Given the description of an element on the screen output the (x, y) to click on. 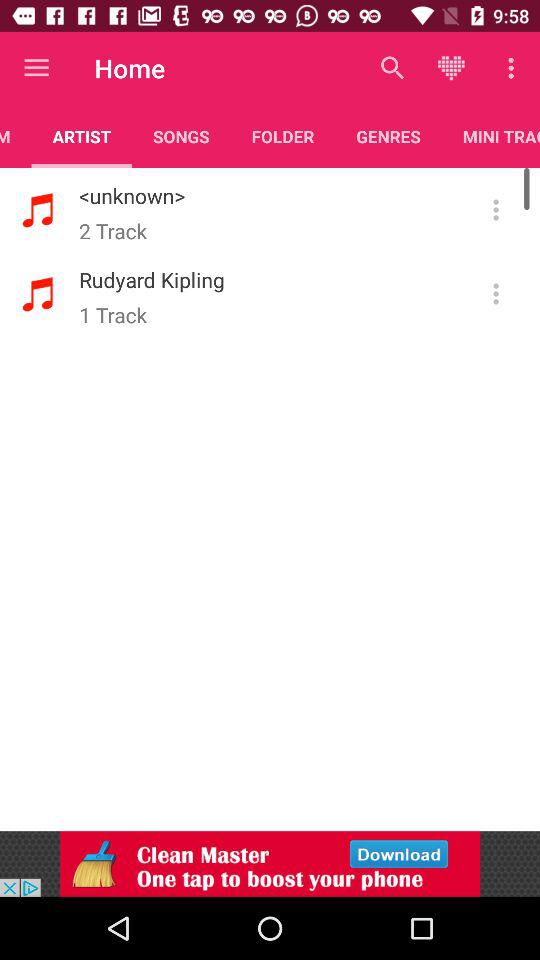
advertisement banner (270, 864)
